Given the description of an element on the screen output the (x, y) to click on. 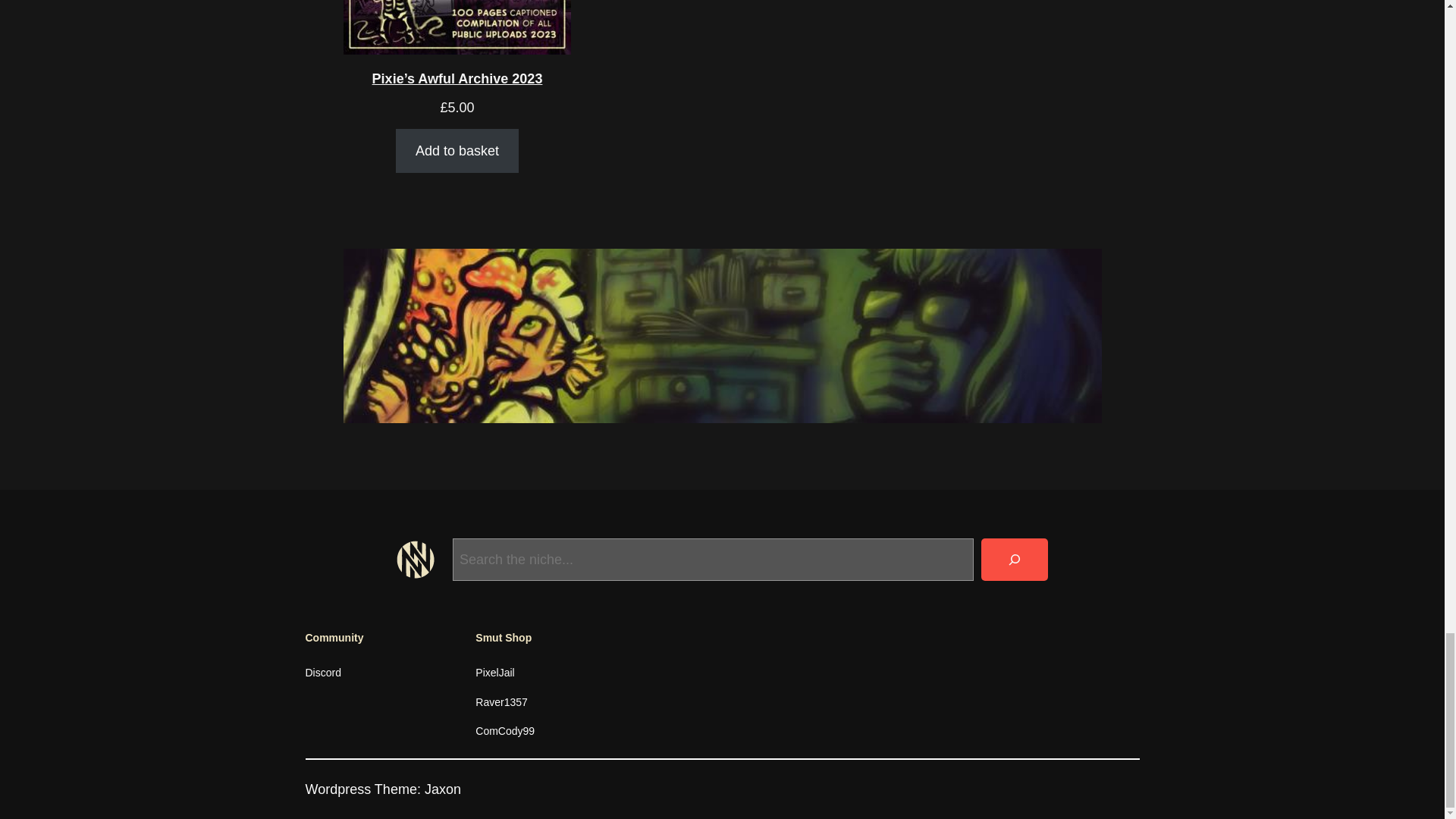
Add to basket (456, 150)
PixelJail (494, 672)
Raver1357 (501, 701)
Discord (322, 672)
ComCody99 (505, 730)
